Given the description of an element on the screen output the (x, y) to click on. 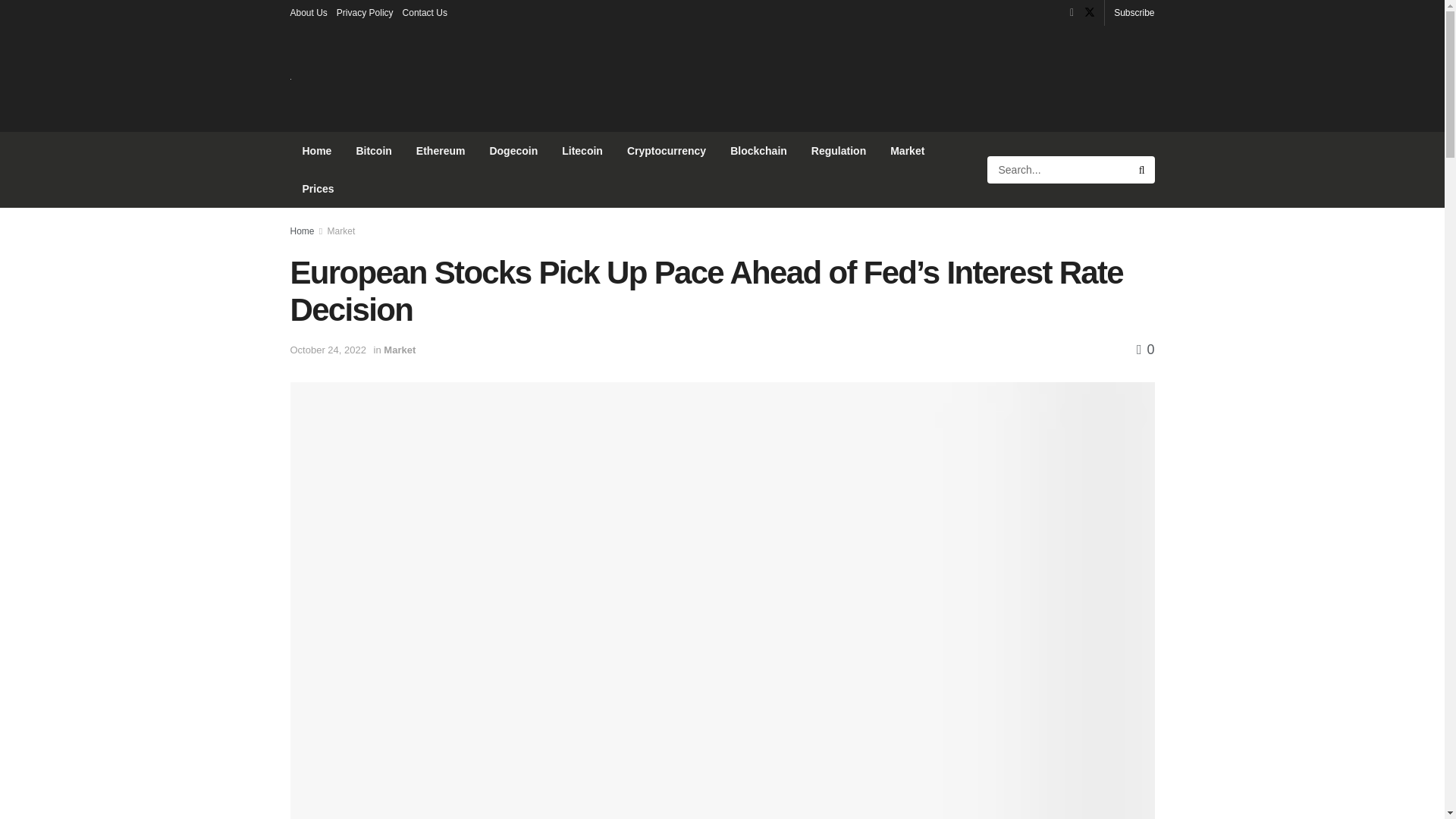
Prices (317, 188)
Home (301, 231)
Contact Us (424, 12)
Market (906, 150)
Privacy Policy (364, 12)
Bitcoin (373, 150)
Subscribe (1133, 12)
About Us (307, 12)
0 (1145, 349)
Cryptocurrency (665, 150)
